Given the description of an element on the screen output the (x, y) to click on. 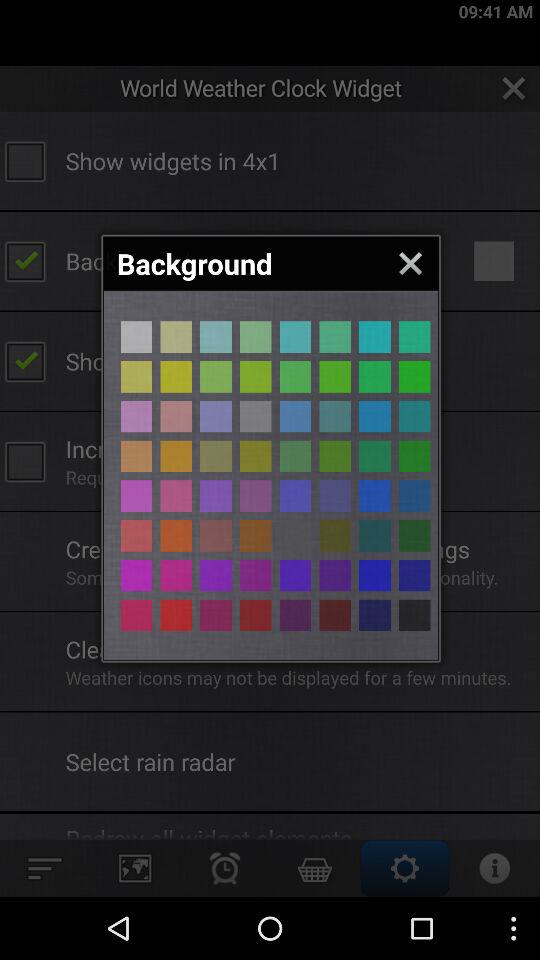
background colir (255, 615)
